Given the description of an element on the screen output the (x, y) to click on. 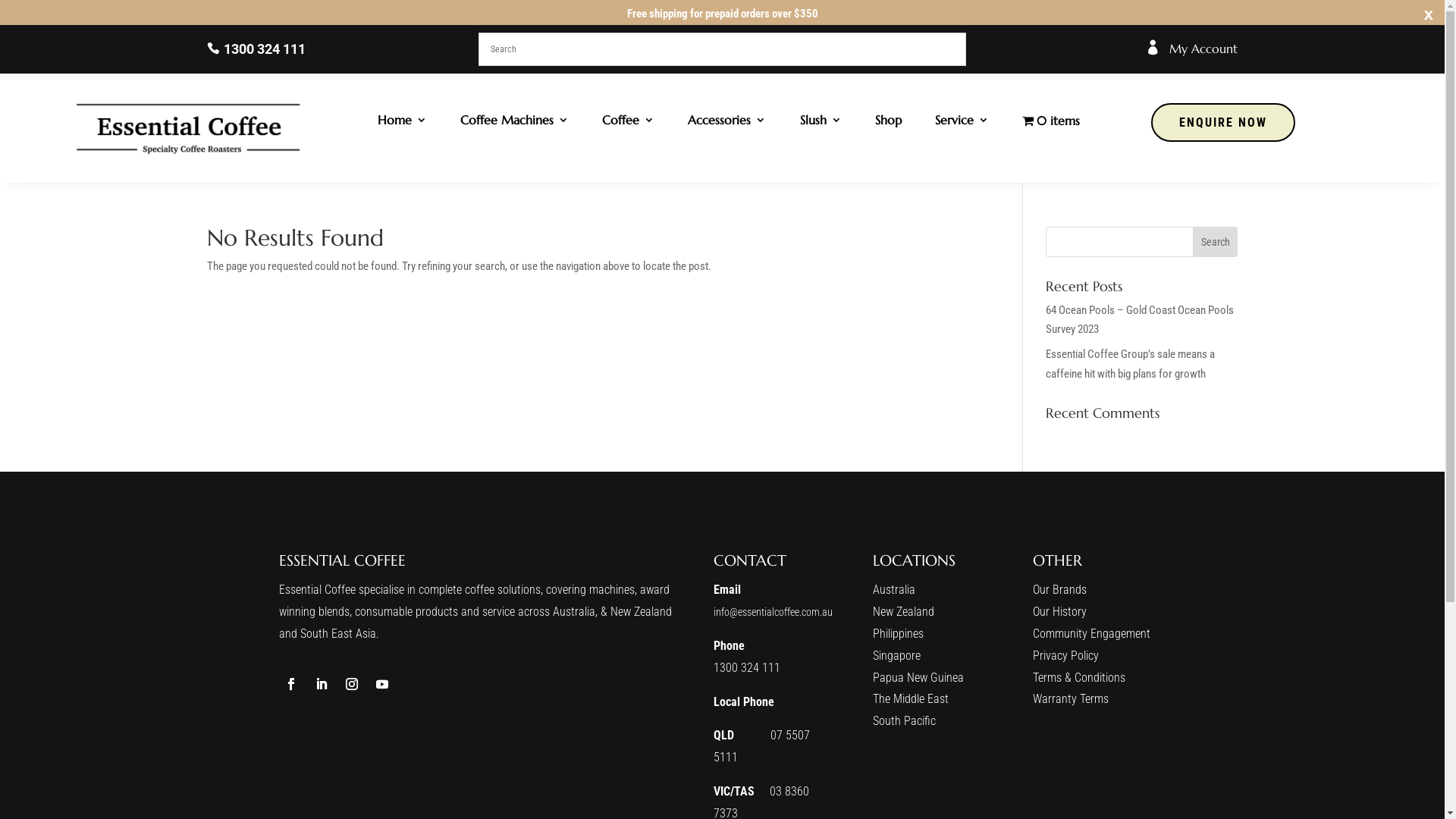
Coffee Element type: text (628, 122)
Our History Element type: text (1059, 611)
Website Logo Element type: hover (189, 127)
Terms & Conditions Element type: text (1078, 677)
Follow on Instagram Element type: hover (351, 683)
Accessories Element type: text (726, 122)
ENQUIRE NOW Element type: text (1223, 122)
Community Engagement Element type: text (1091, 633)
Warranty Terms Element type: text (1070, 698)
Service Element type: text (961, 122)
Follow on Youtube Element type: hover (382, 683)
Coffee Machines Element type: text (514, 122)
Shop Element type: text (888, 122)
1300 324 111 Element type: text (255, 48)
Home Element type: text (401, 122)
Privacy Policy Element type: text (1065, 655)
Search Element type: text (1215, 241)
info@essentialcoffee.com.au Element type: text (772, 611)
Slush Element type: text (820, 122)
Our Brands Element type: text (1059, 589)
0 items Element type: text (1050, 122)
Follow on LinkedIn Element type: hover (321, 683)
1300 324 111 Element type: text (746, 667)
Follow on Facebook Element type: hover (291, 683)
